Given the description of an element on the screen output the (x, y) to click on. 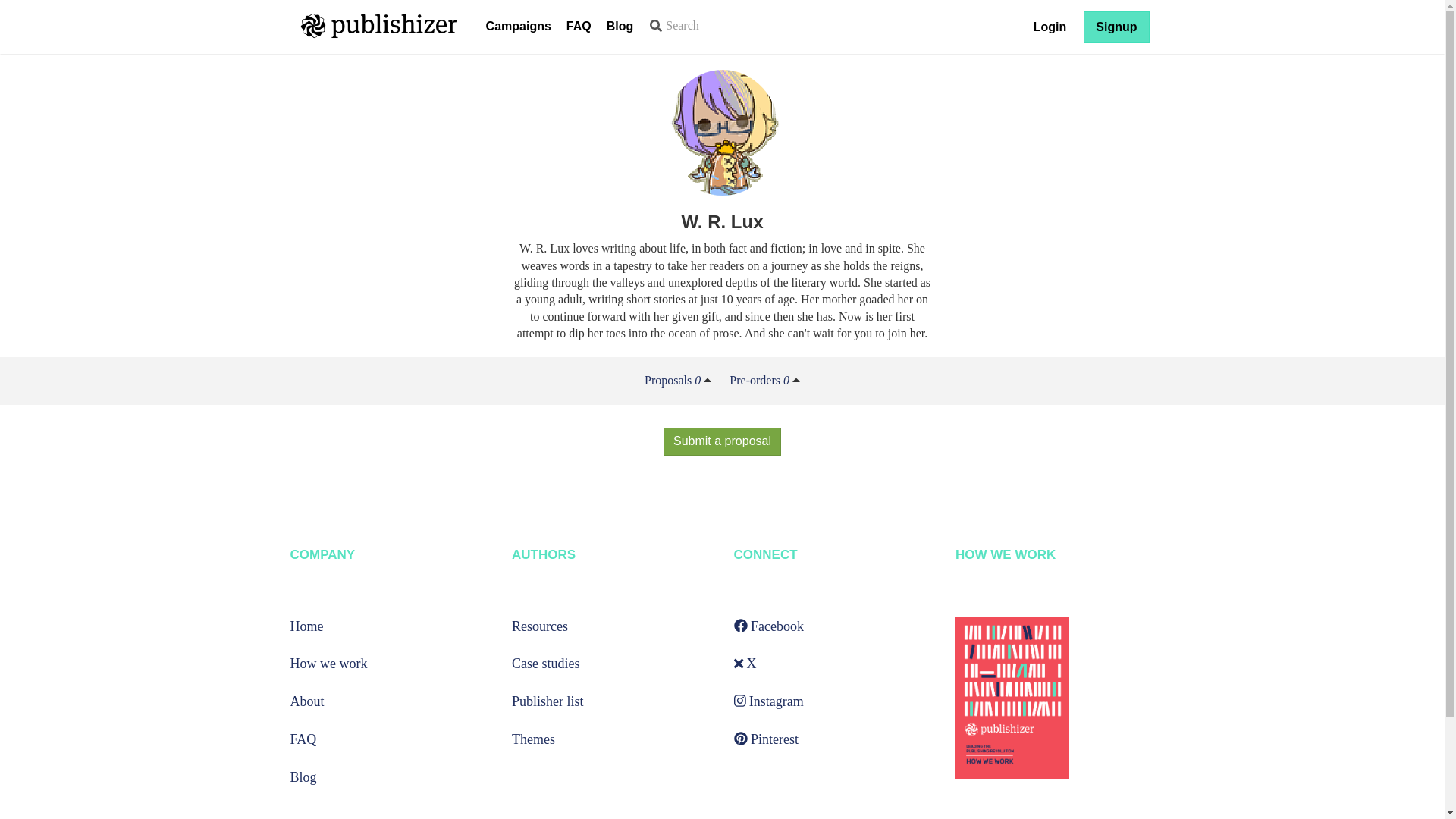
FAQ (302, 739)
How we work (327, 663)
Pre-orders 0 (759, 379)
Login (1050, 27)
FAQ (578, 26)
Submit a proposal (721, 441)
Publisher list (547, 701)
Themes (533, 739)
Pinterest (766, 739)
Blog (302, 776)
